Given the description of an element on the screen output the (x, y) to click on. 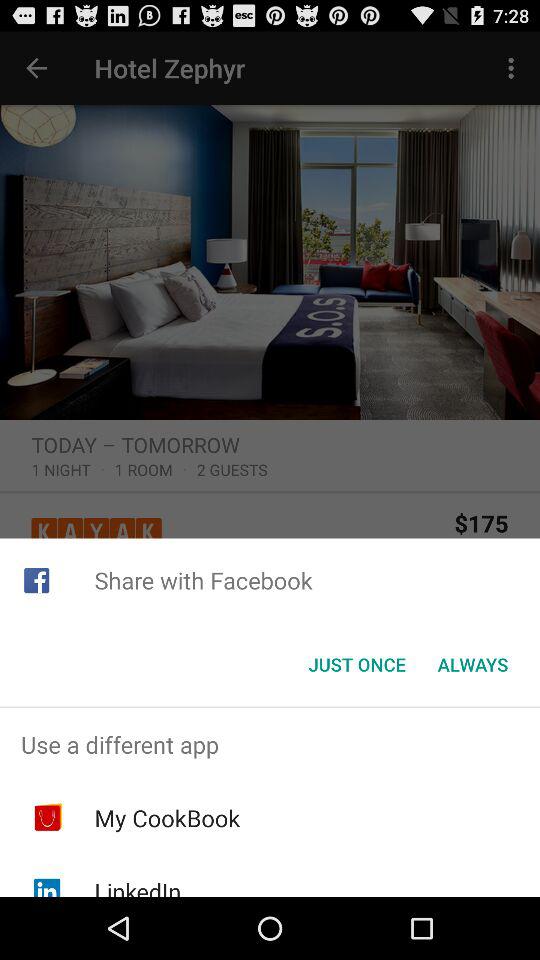
select the icon next to just once (472, 664)
